Given the description of an element on the screen output the (x, y) to click on. 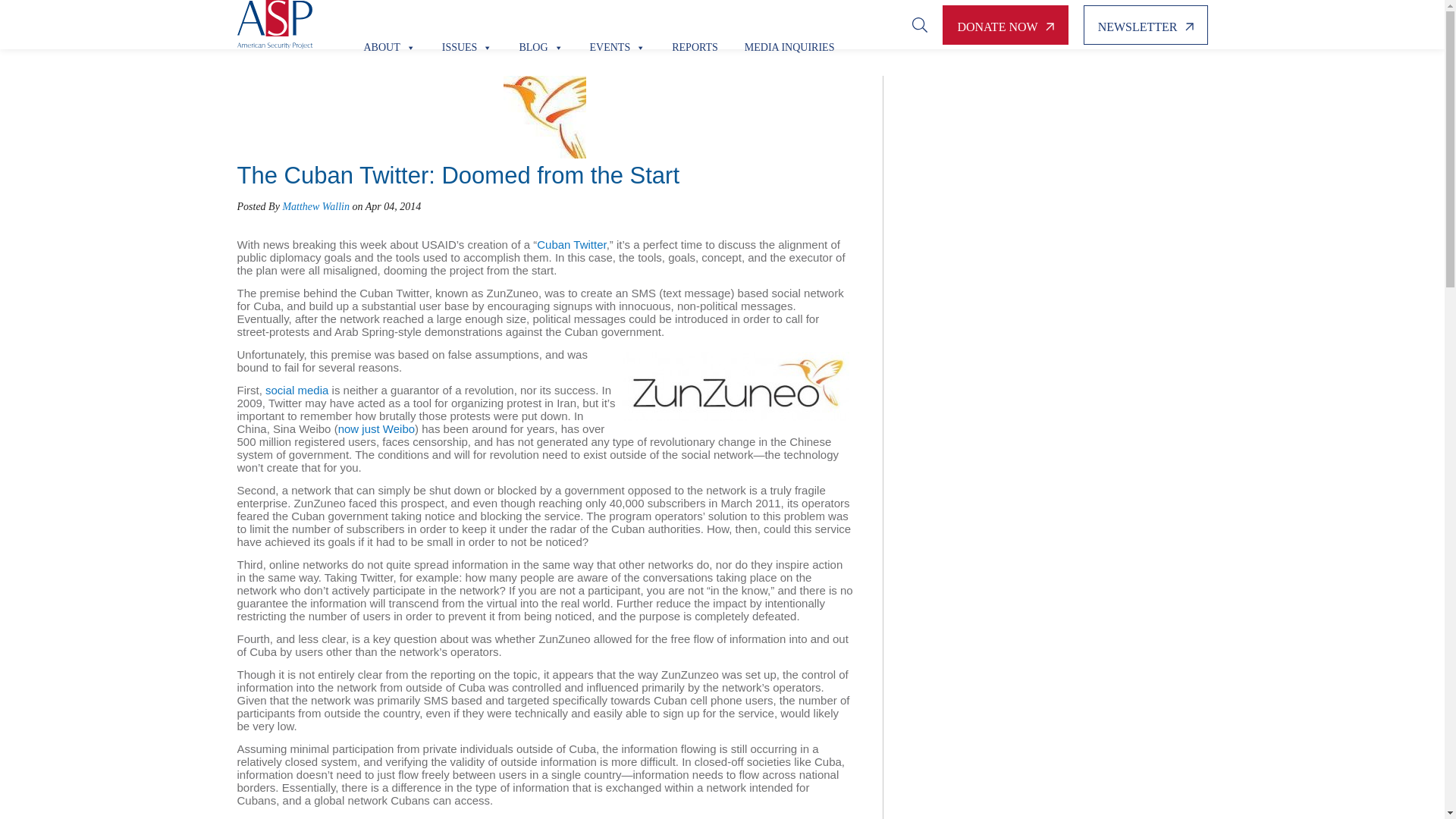
Issues Menu (467, 24)
EVENTS (617, 24)
 - Link will open in new window (571, 244)
NEWSLETTER (1145, 24)
ISSUES (467, 24)
REPORTS (694, 24)
MEDIA INQUIRIES (789, 24)
 - Link will open in new window (375, 428)
DONATE NOW (1004, 24)
ABOUT (388, 24)
BLOG (540, 24)
